Given the description of an element on the screen output the (x, y) to click on. 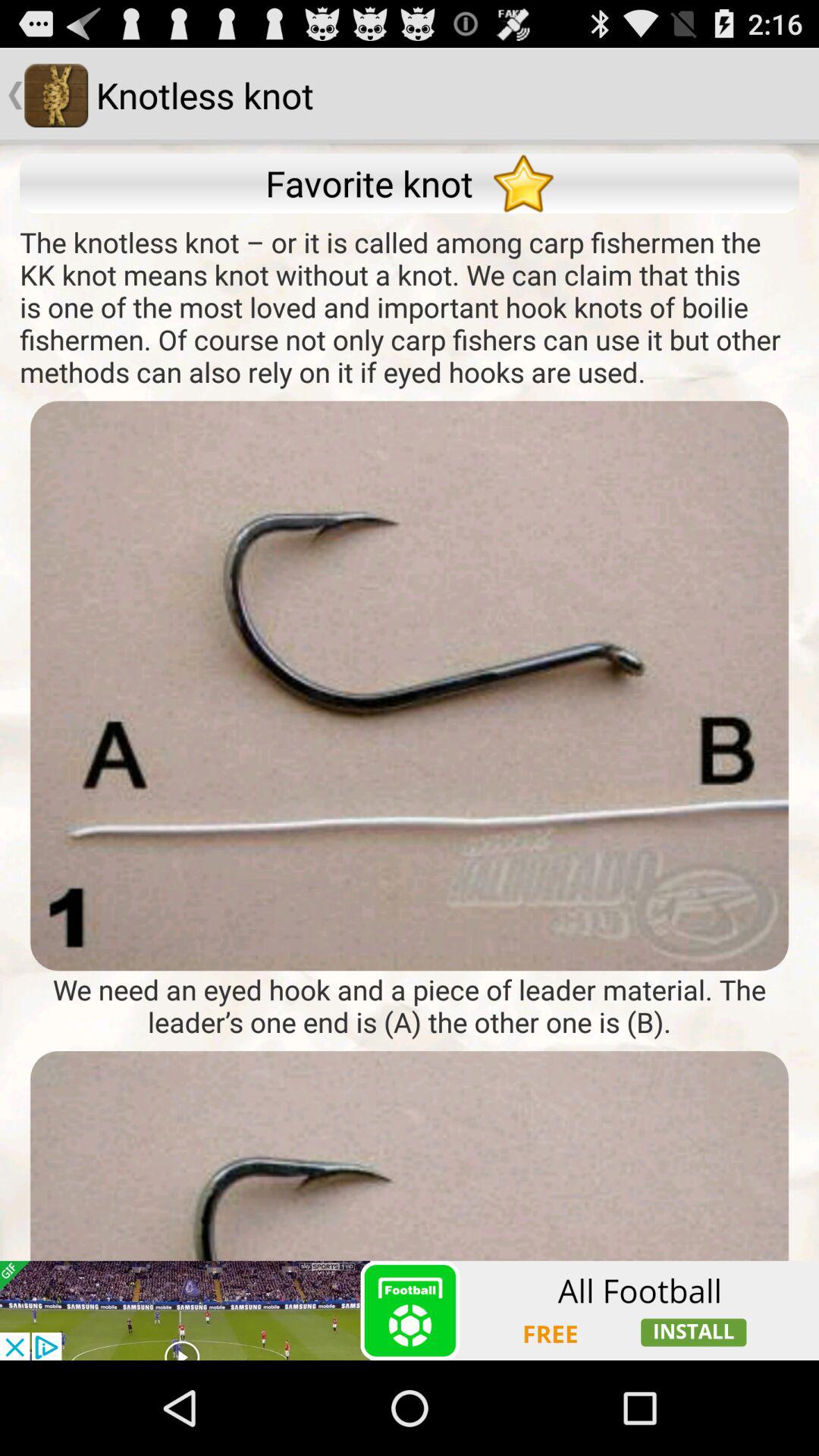
view the adversitement (409, 1205)
